Given the description of an element on the screen output the (x, y) to click on. 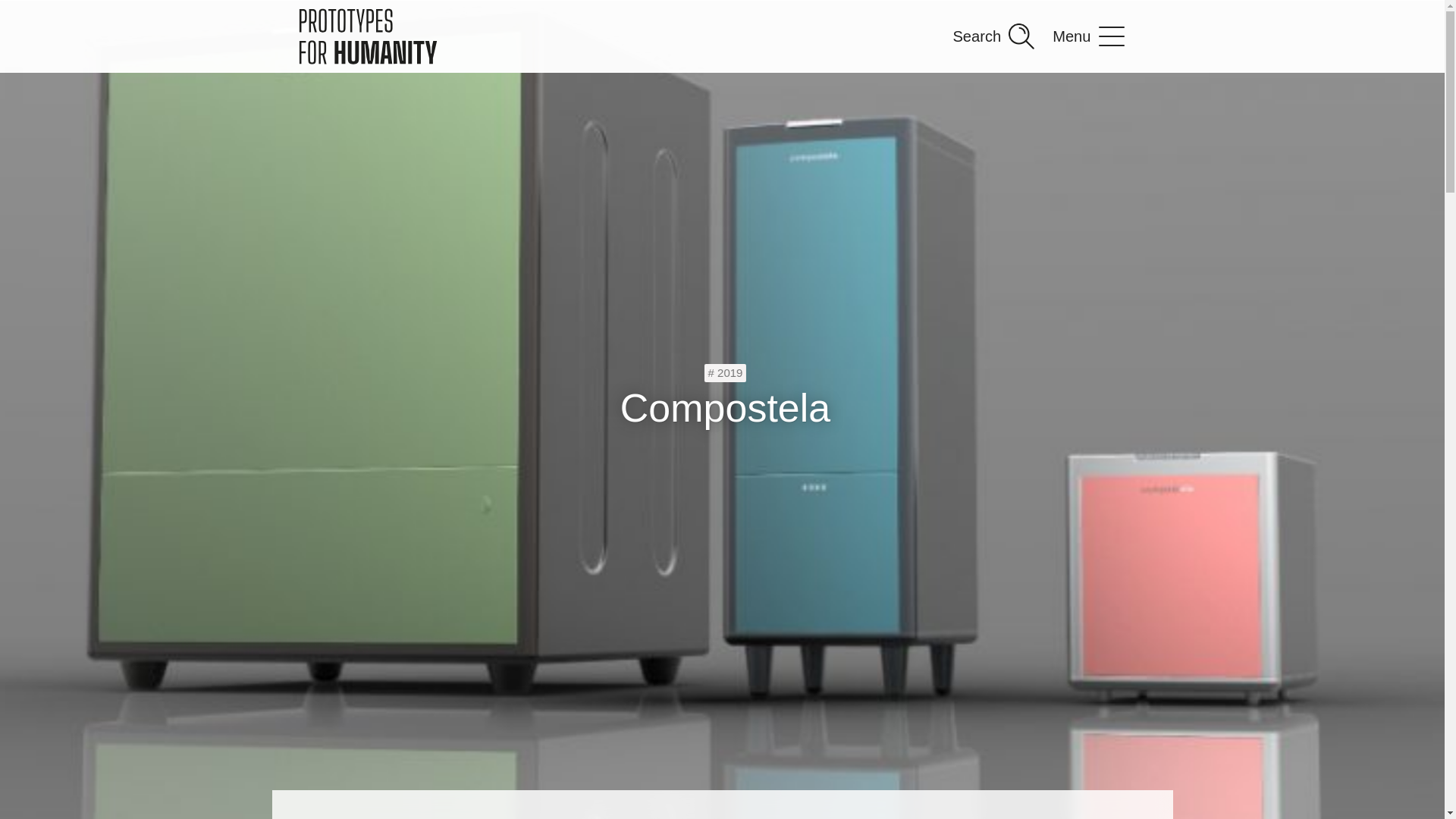
Prototypes for Humanity (367, 36)
